Given the description of an element on the screen output the (x, y) to click on. 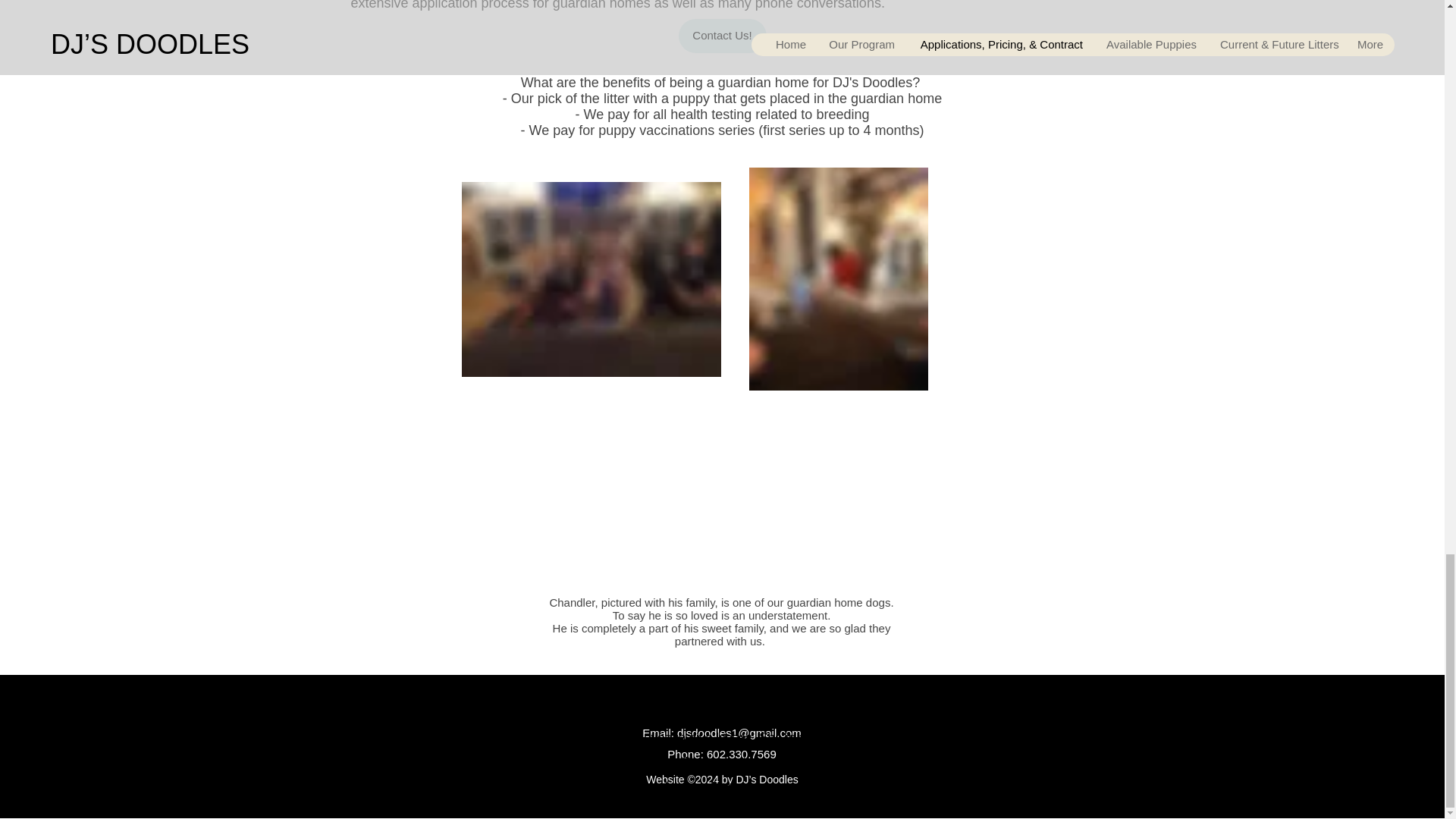
Contact Us! (721, 35)
